Given the description of an element on the screen output the (x, y) to click on. 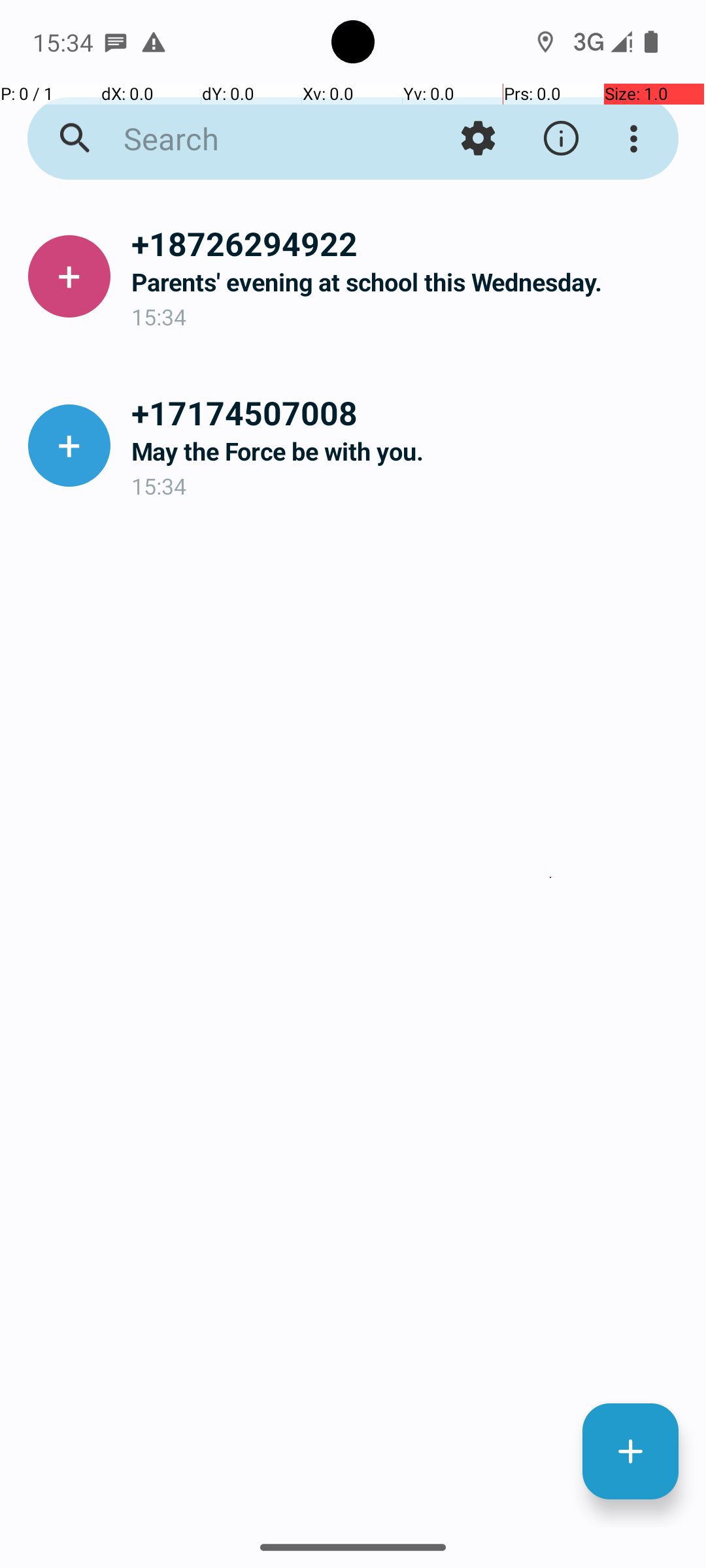
+18726294922 Element type: android.widget.TextView (408, 242)
Parents' evening at school this Wednesday. Element type: android.widget.TextView (408, 281)
+17174507008 Element type: android.widget.TextView (408, 412)
May the Force be with you. Element type: android.widget.TextView (408, 450)
